Given the description of an element on the screen output the (x, y) to click on. 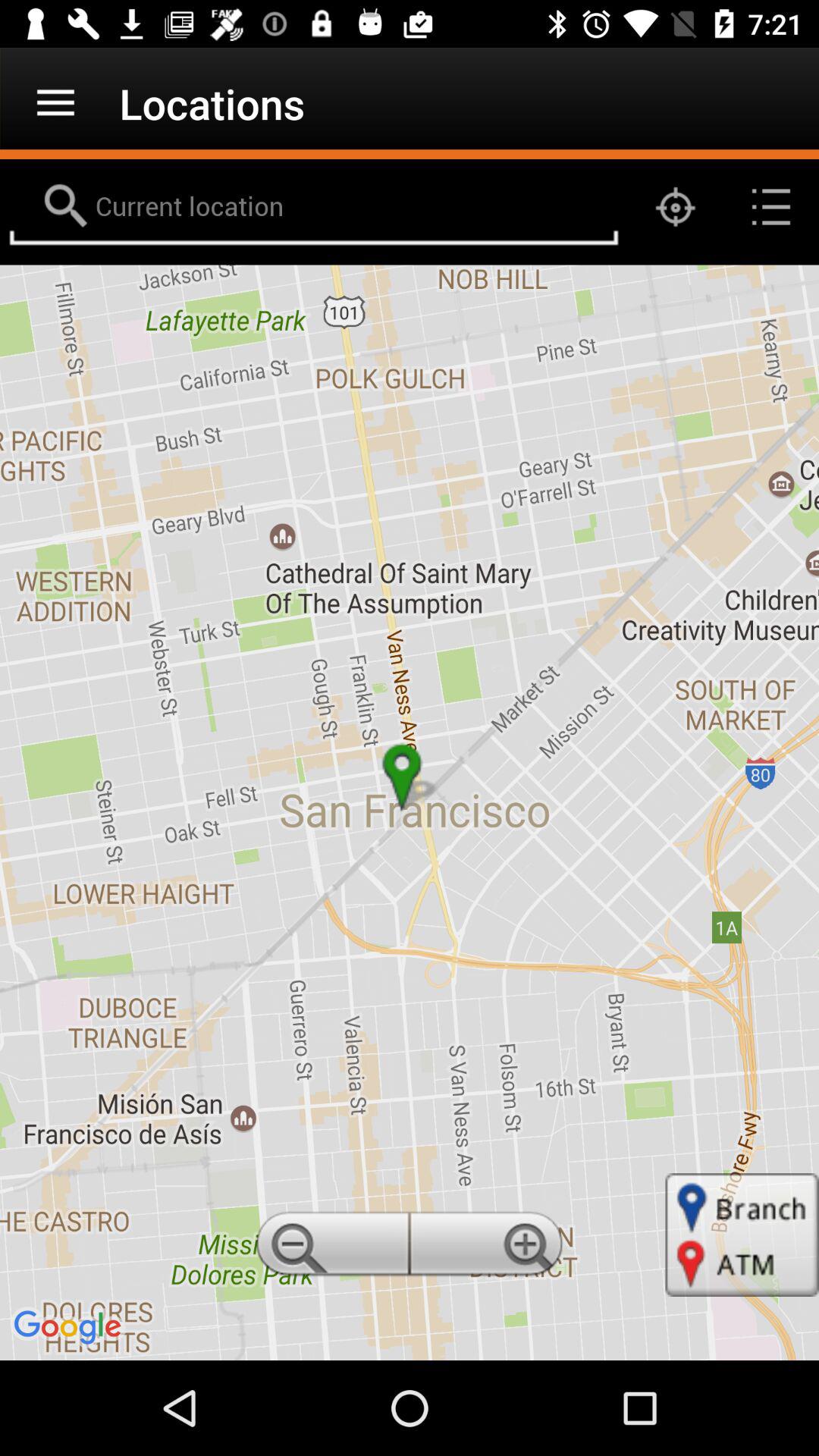
select item at the center (409, 812)
